Given the description of an element on the screen output the (x, y) to click on. 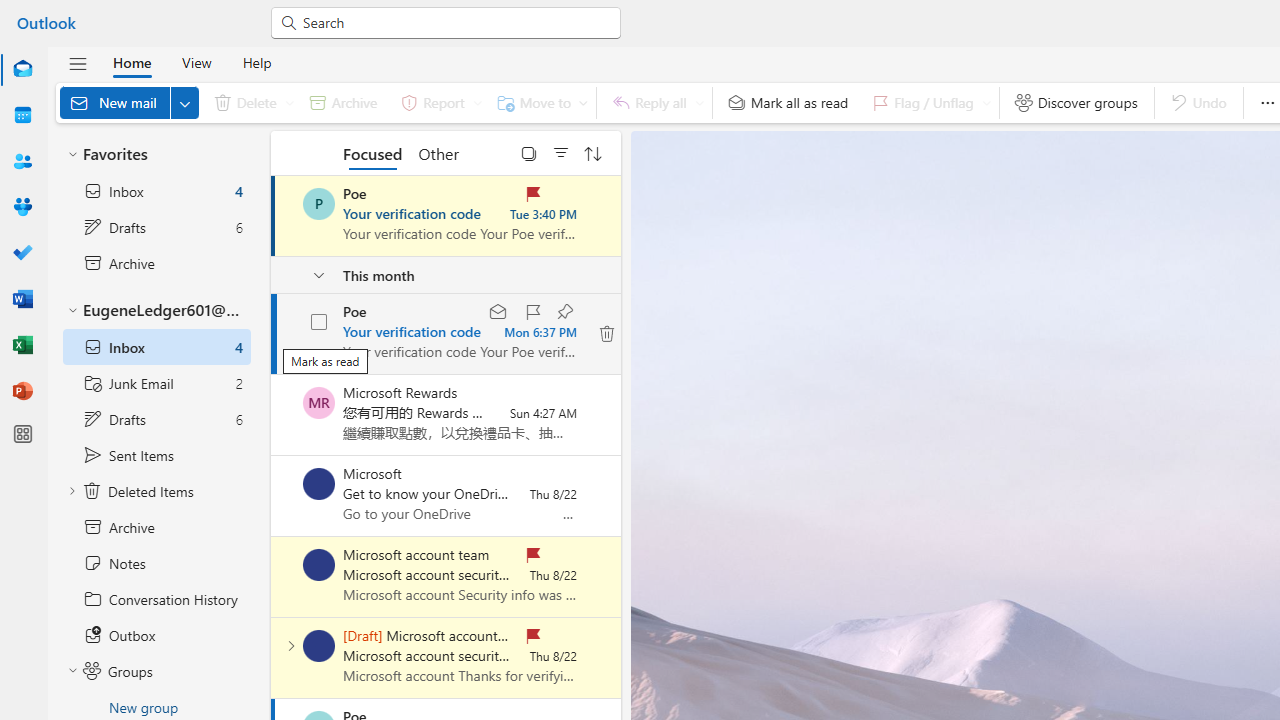
New mail (129, 102)
Expand to see more report options (477, 102)
Poe (319, 203)
Other (438, 152)
Undo (1198, 102)
Discover groups (1076, 102)
To Do (22, 254)
Hide navigation pane (77, 63)
Filter (561, 152)
Select (529, 152)
Reply all (654, 102)
Expand to see more New options (184, 102)
Word (22, 298)
Groups (22, 207)
